Given the description of an element on the screen output the (x, y) to click on. 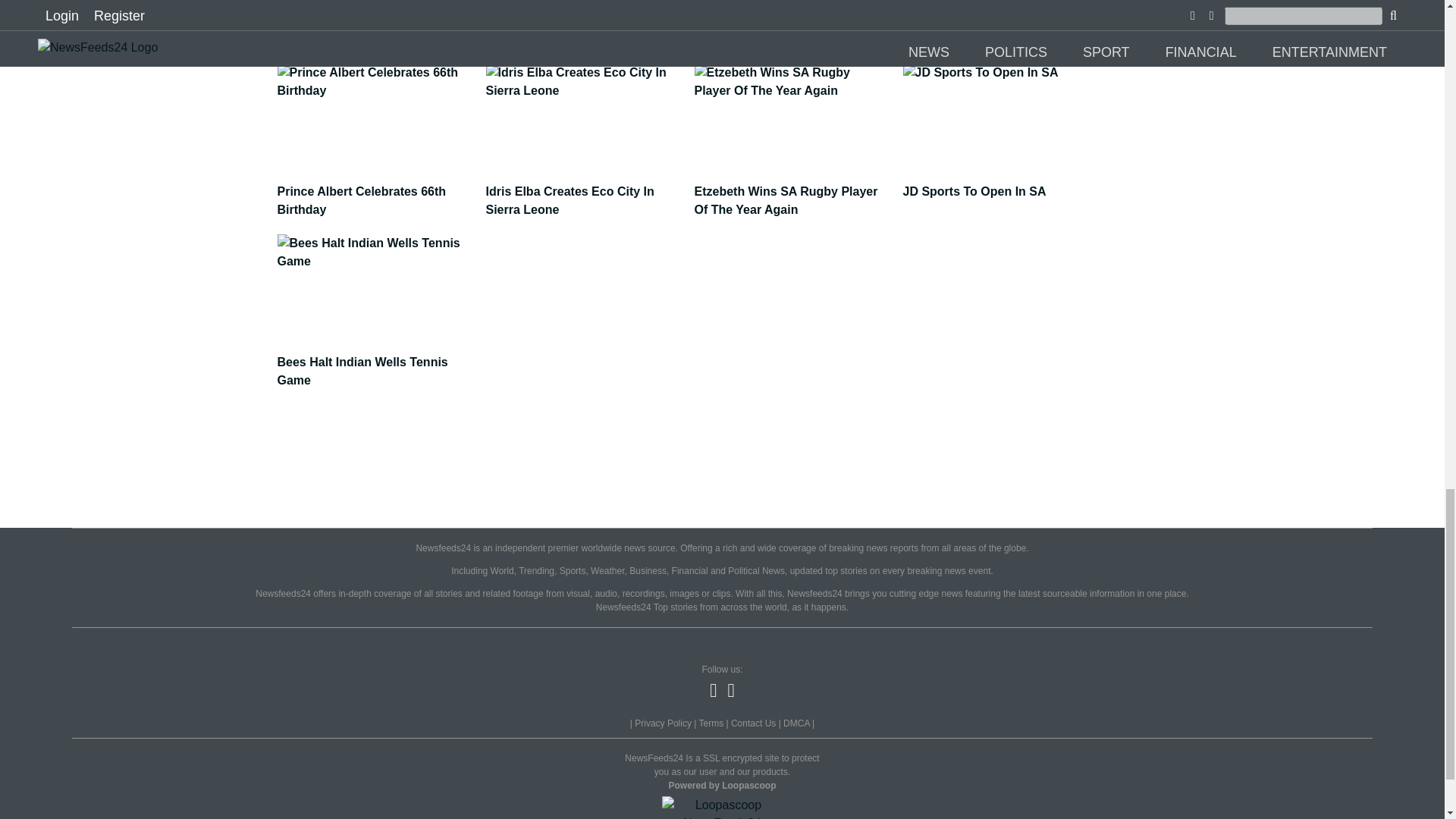
Etzebeth Wins SA Rugby Player Of The Year Again (793, 193)
Meghan Reveals New Brand (793, 15)
Idris Elba Creates Eco City In Sierra Leone (584, 193)
JD Sports To Open In SA (1002, 183)
SA-based Ship Off To Repair Subsea Internet Cables (377, 24)
New Banksy Artwork Confirmed (1002, 15)
Prince Albert Celebrates 66th Birthday (377, 193)
Susie Wolff Lays Criminal Complaint Against FIA (584, 24)
